Given the description of an element on the screen output the (x, y) to click on. 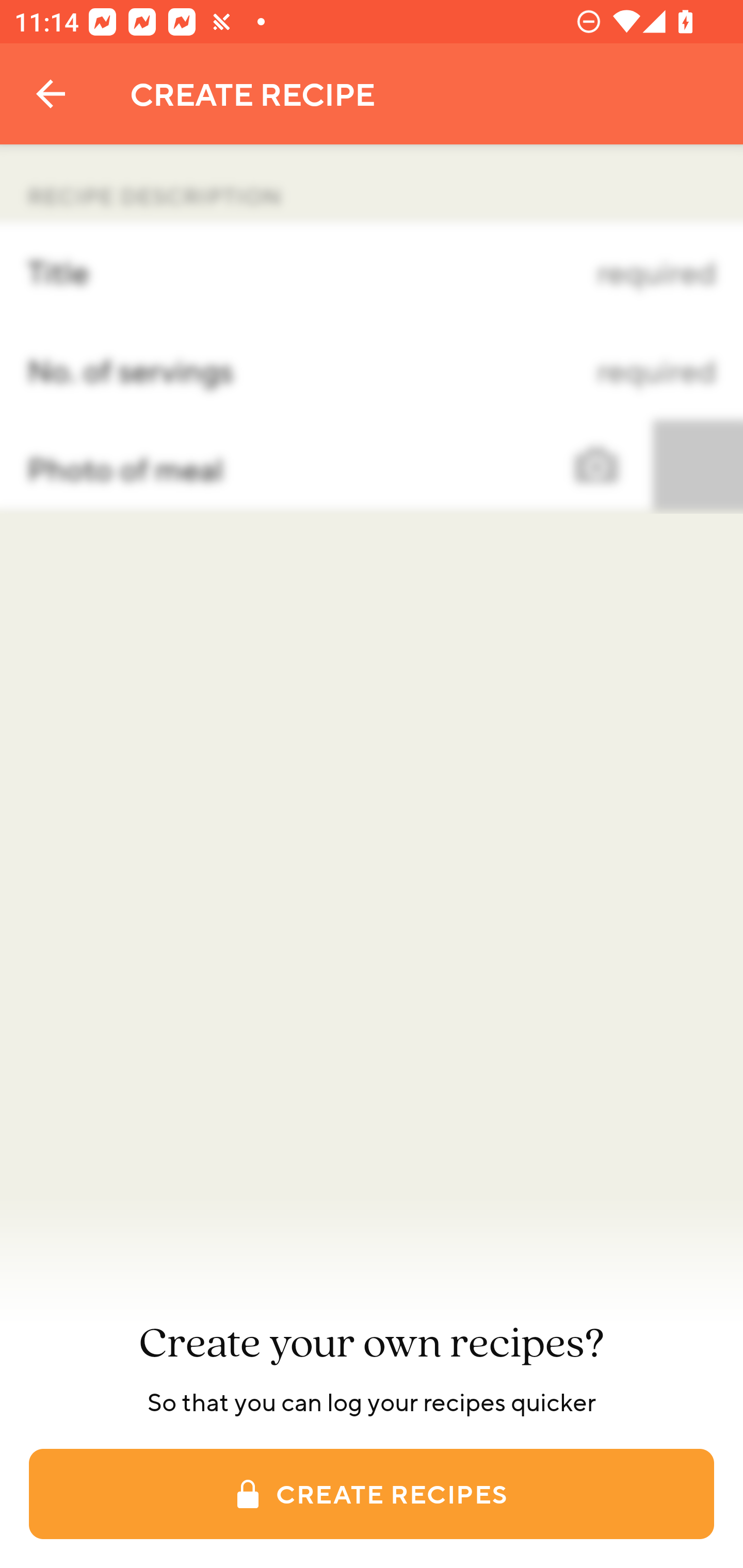
Navigate up (50, 93)
CREATE RECIPES (371, 1493)
